Given the description of an element on the screen output the (x, y) to click on. 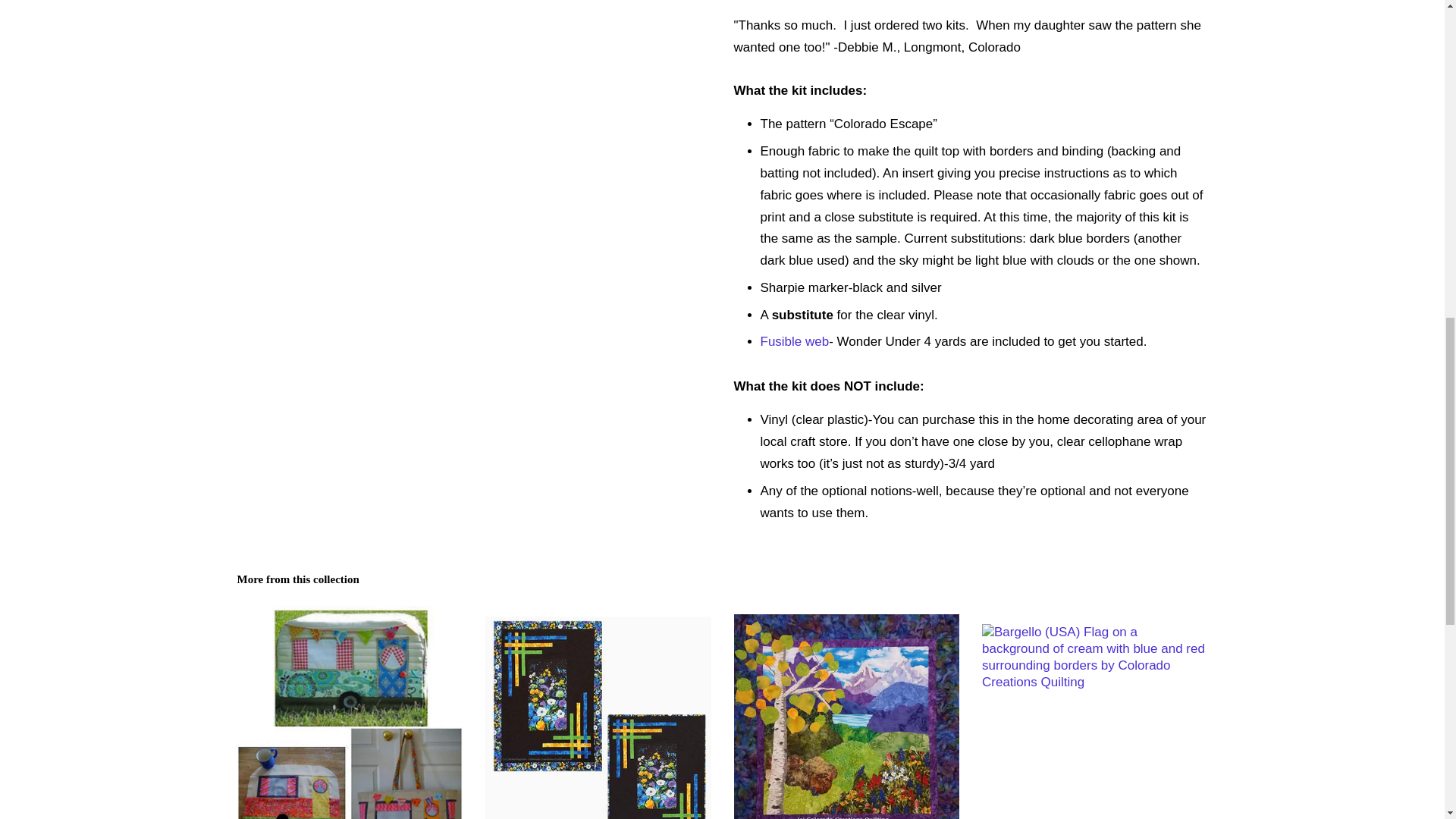
Fusible web products for crafts (794, 341)
